Given the description of an element on the screen output the (x, y) to click on. 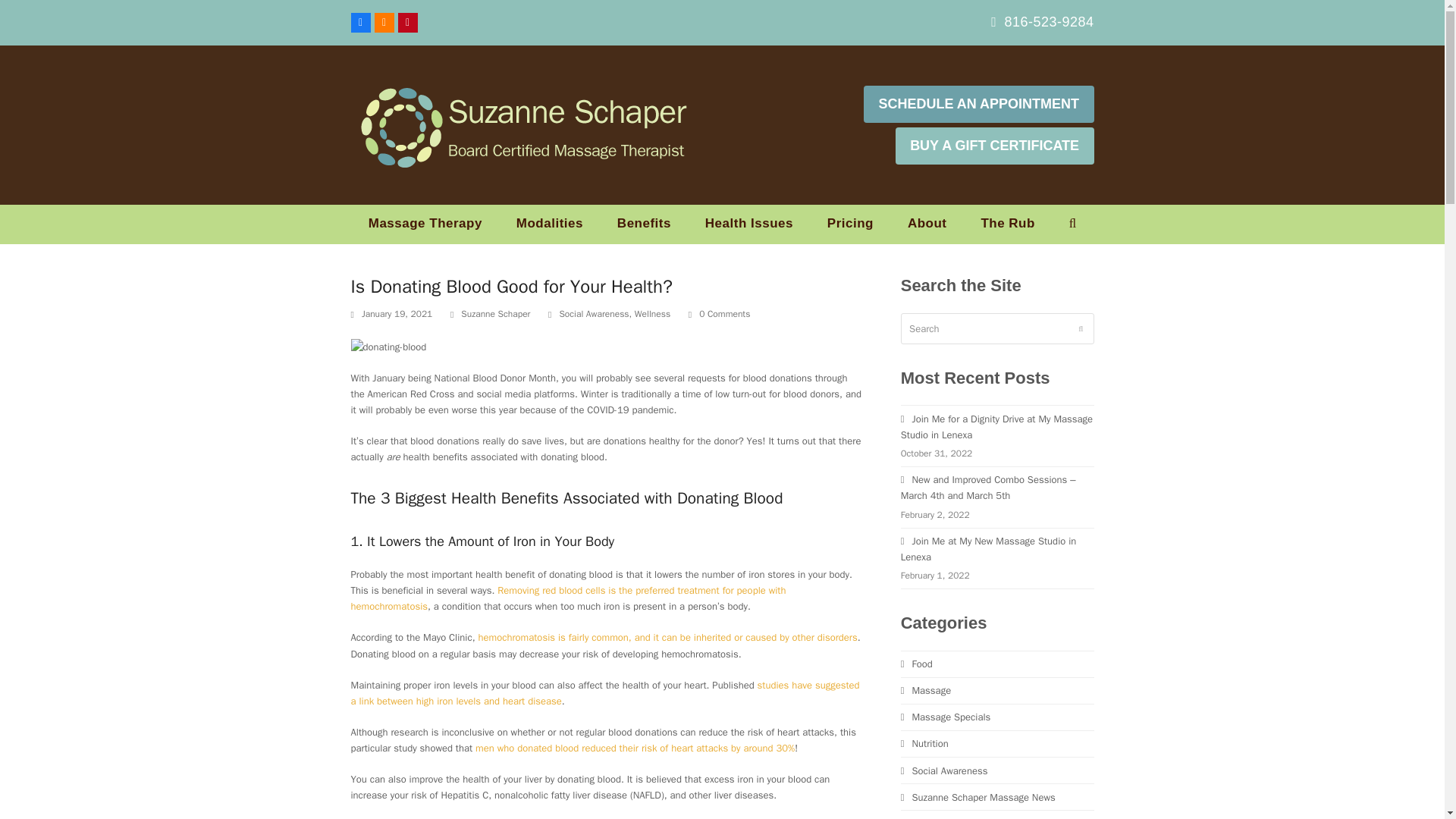
Massage Therapy (425, 224)
Modalities (549, 224)
Facebook (359, 22)
BUY A GIFT CERTIFICATE (994, 145)
0 Comments (719, 314)
Pinterest (406, 22)
Health Issues (749, 224)
Posts by Suzanne Schaper (495, 313)
Benefits (643, 224)
Pricing (850, 224)
About (927, 224)
SCHEDULE AN APPOINTMENT (978, 103)
RSS (384, 22)
